Given the description of an element on the screen output the (x, y) to click on. 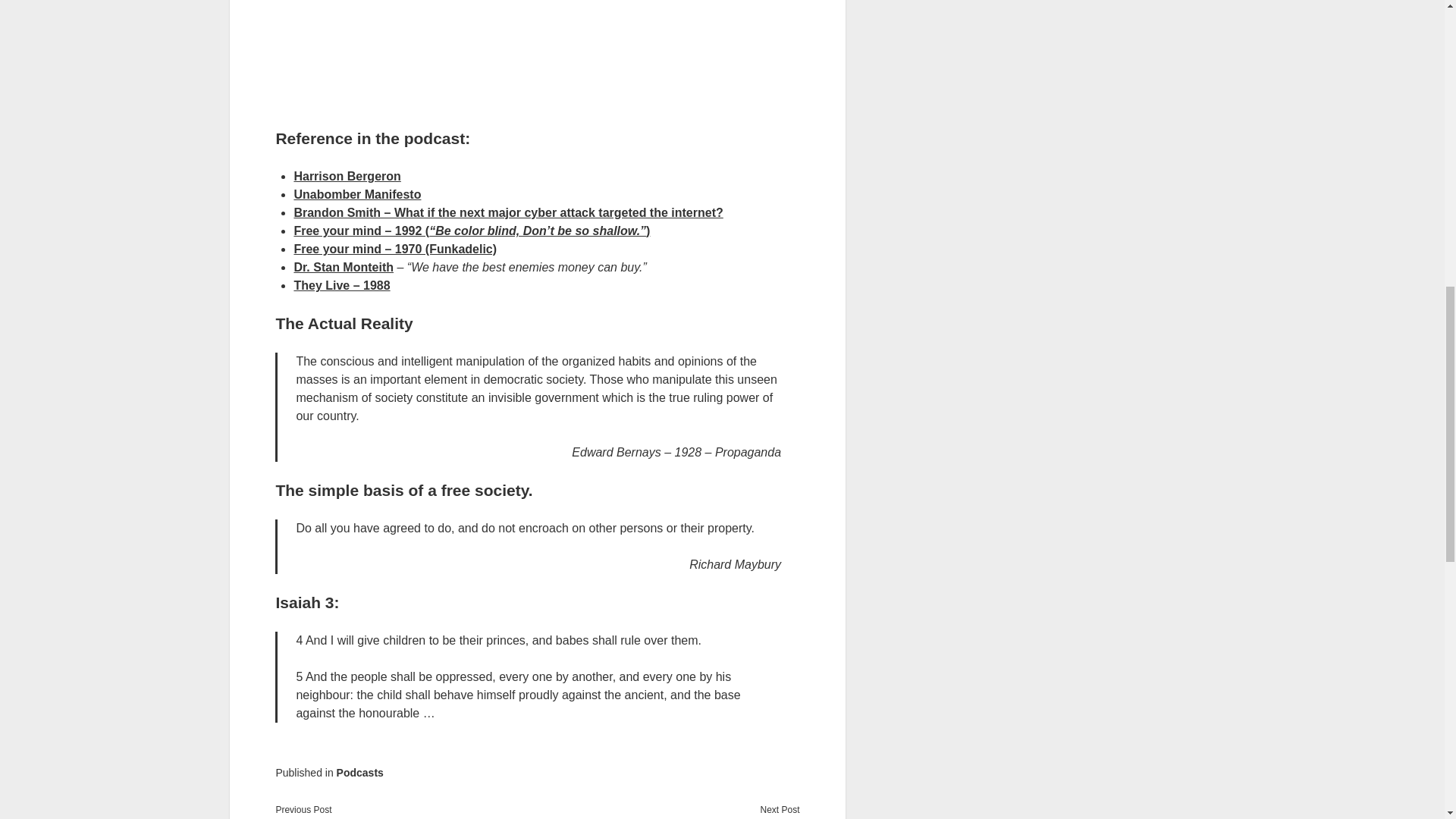
Harrison Bergeron (347, 175)
View all posts in Podcasts (360, 772)
Podcasts (360, 772)
Dr. Stan Monteith (343, 267)
Unabomber Manifesto (357, 194)
